Given the description of an element on the screen output the (x, y) to click on. 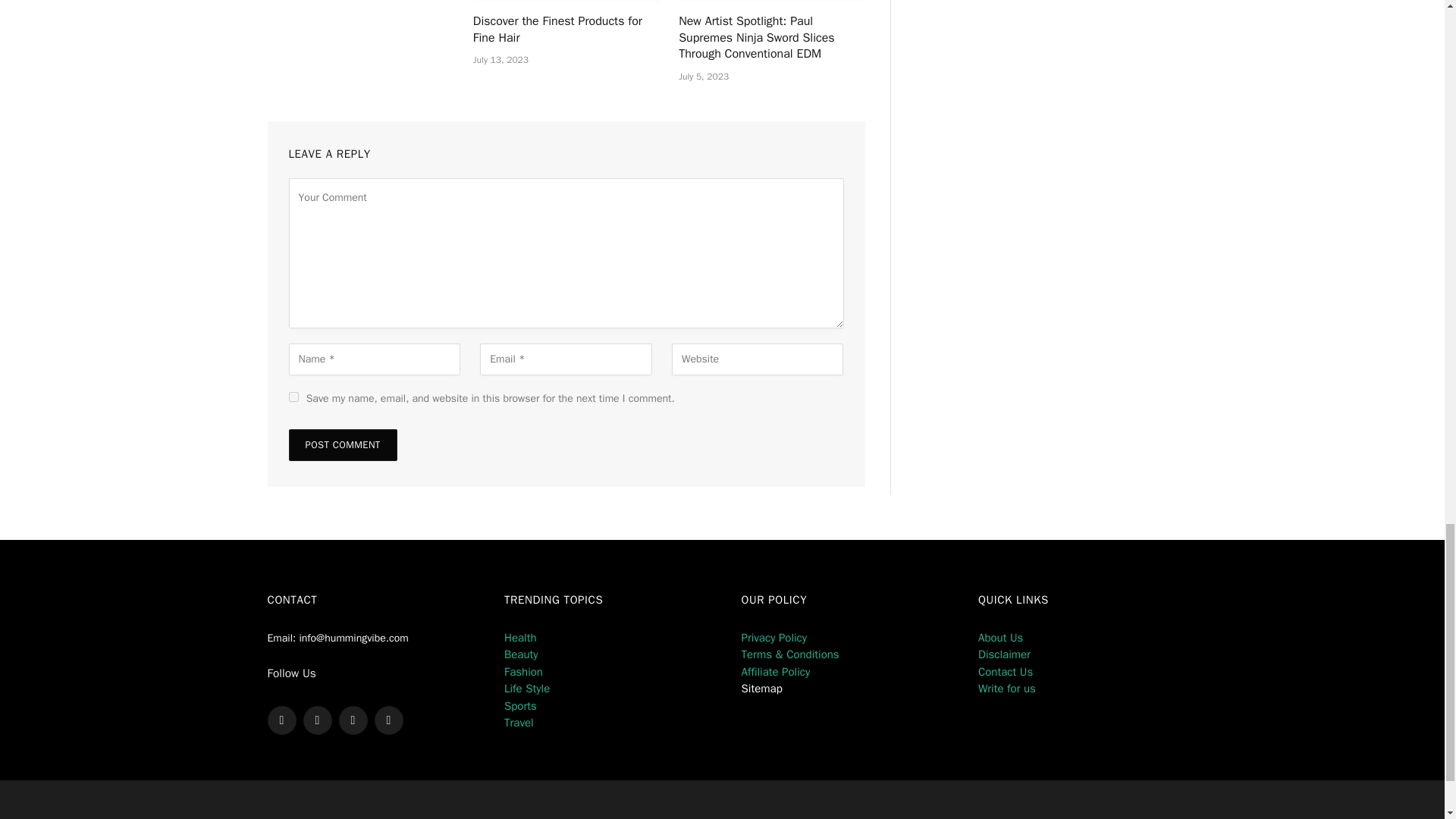
Post Comment (342, 445)
yes (293, 397)
